Given the description of an element on the screen output the (x, y) to click on. 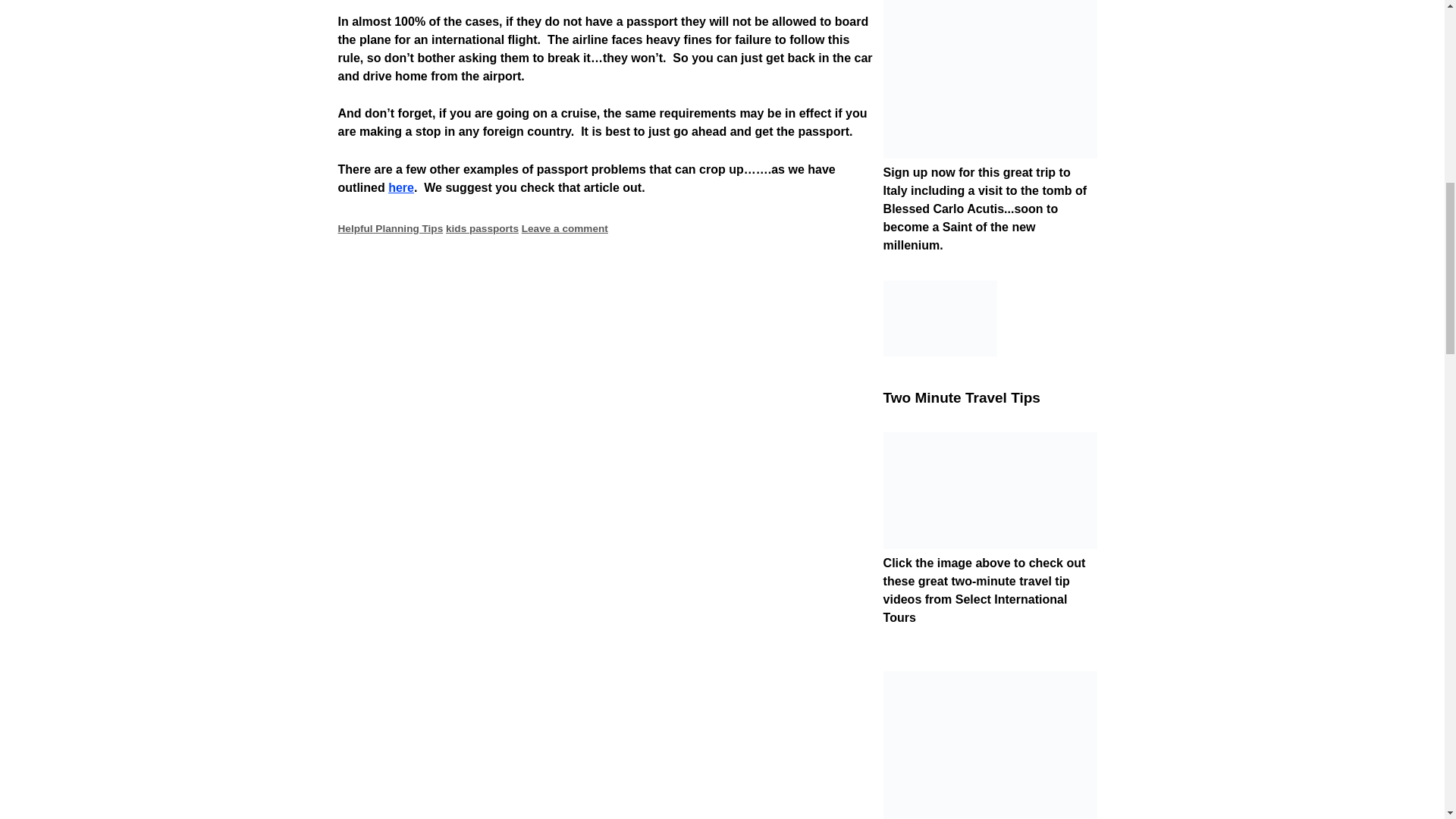
Leave a comment (564, 228)
Two Minute Travel Tips (990, 544)
Helpful Planning Tips (390, 228)
kids passports (481, 228)
here (400, 187)
